Given the description of an element on the screen output the (x, y) to click on. 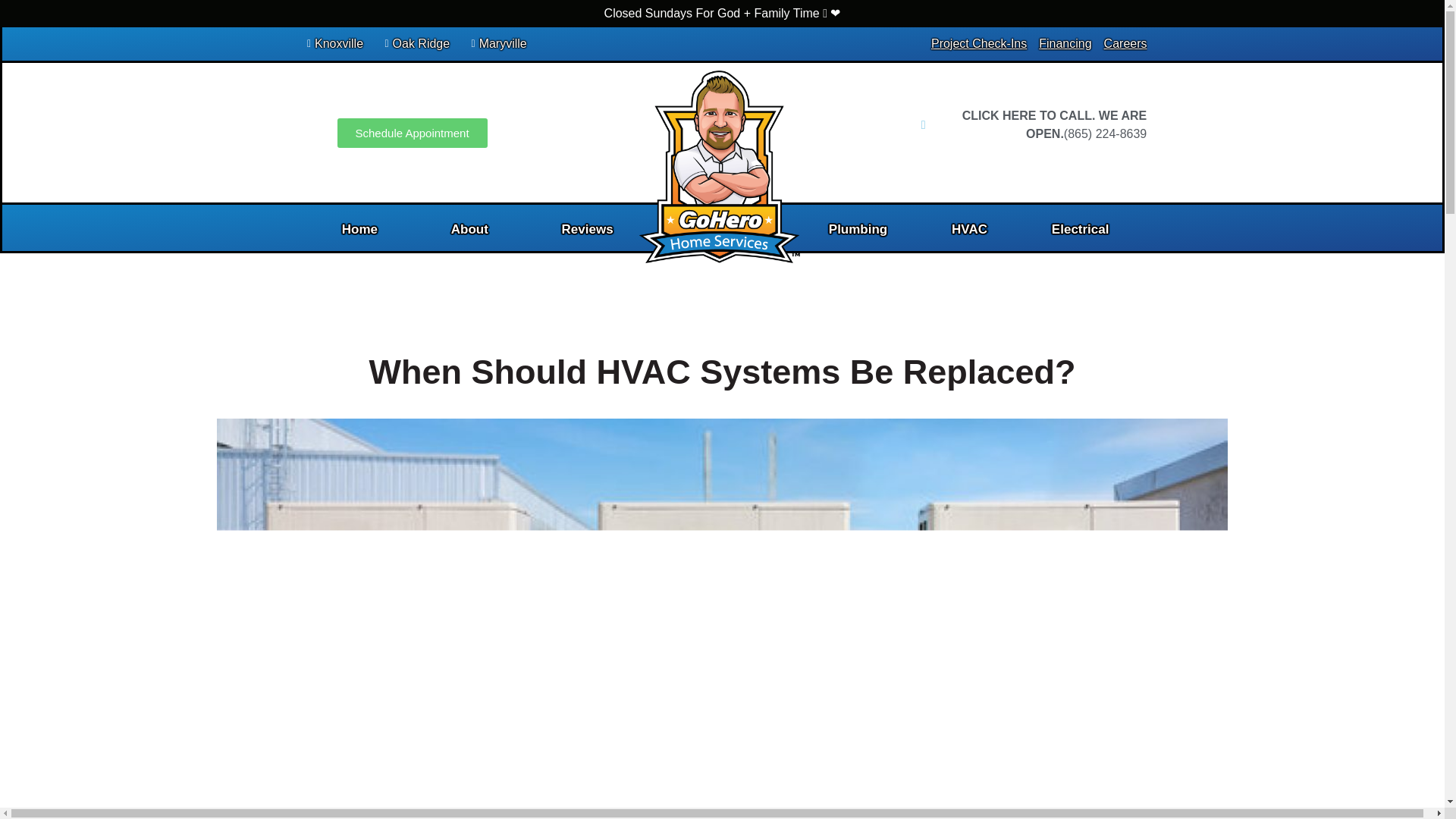
Financing (1064, 44)
Oak Ridge (412, 44)
Maryville (494, 44)
Reviews (586, 229)
Careers (1125, 44)
Home (358, 229)
Project Check-Ins (978, 44)
Schedule Appointment (412, 132)
Knoxville (329, 44)
About (468, 229)
